Given the description of an element on the screen output the (x, y) to click on. 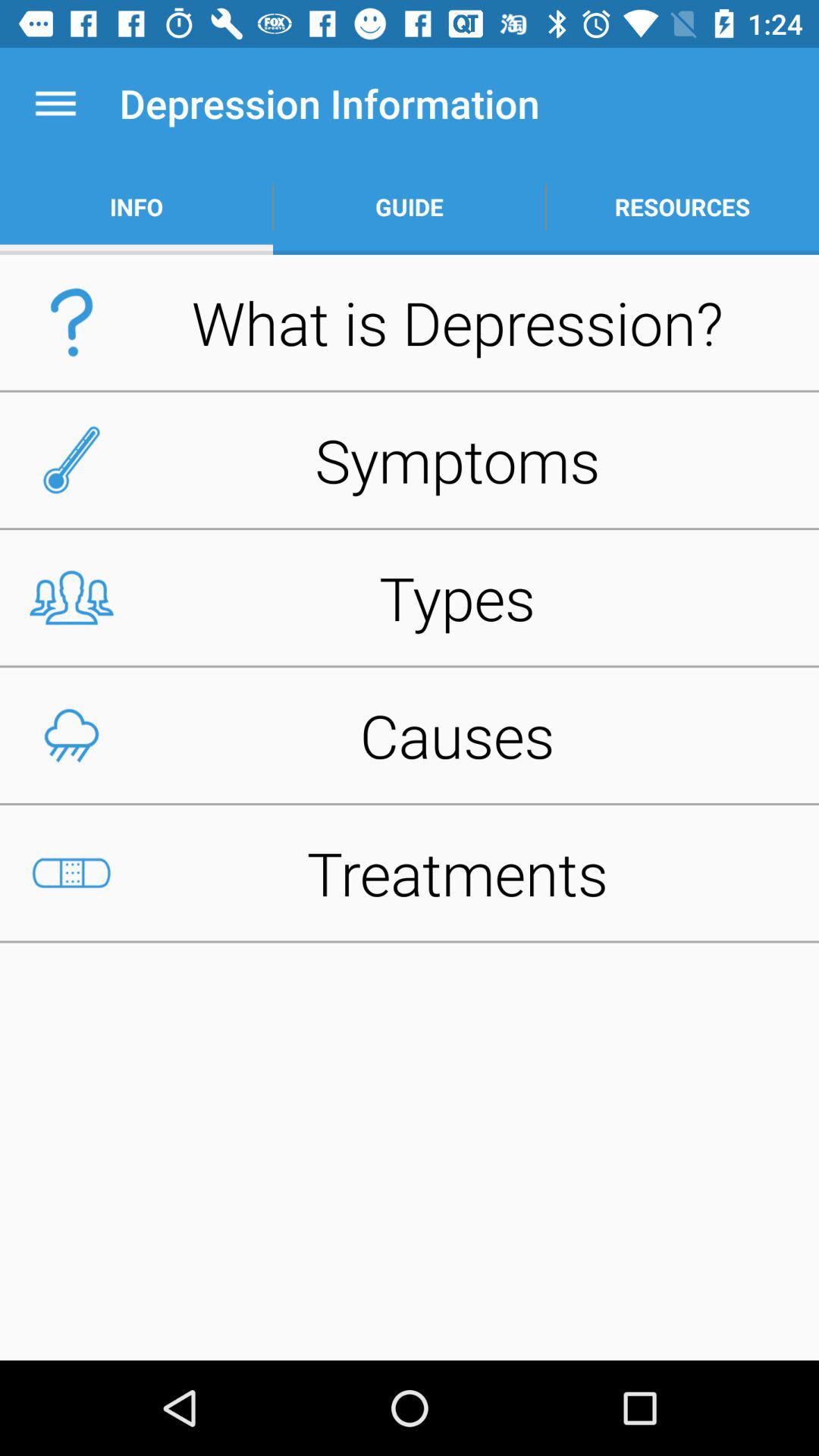
tap the types icon (409, 597)
